Given the description of an element on the screen output the (x, y) to click on. 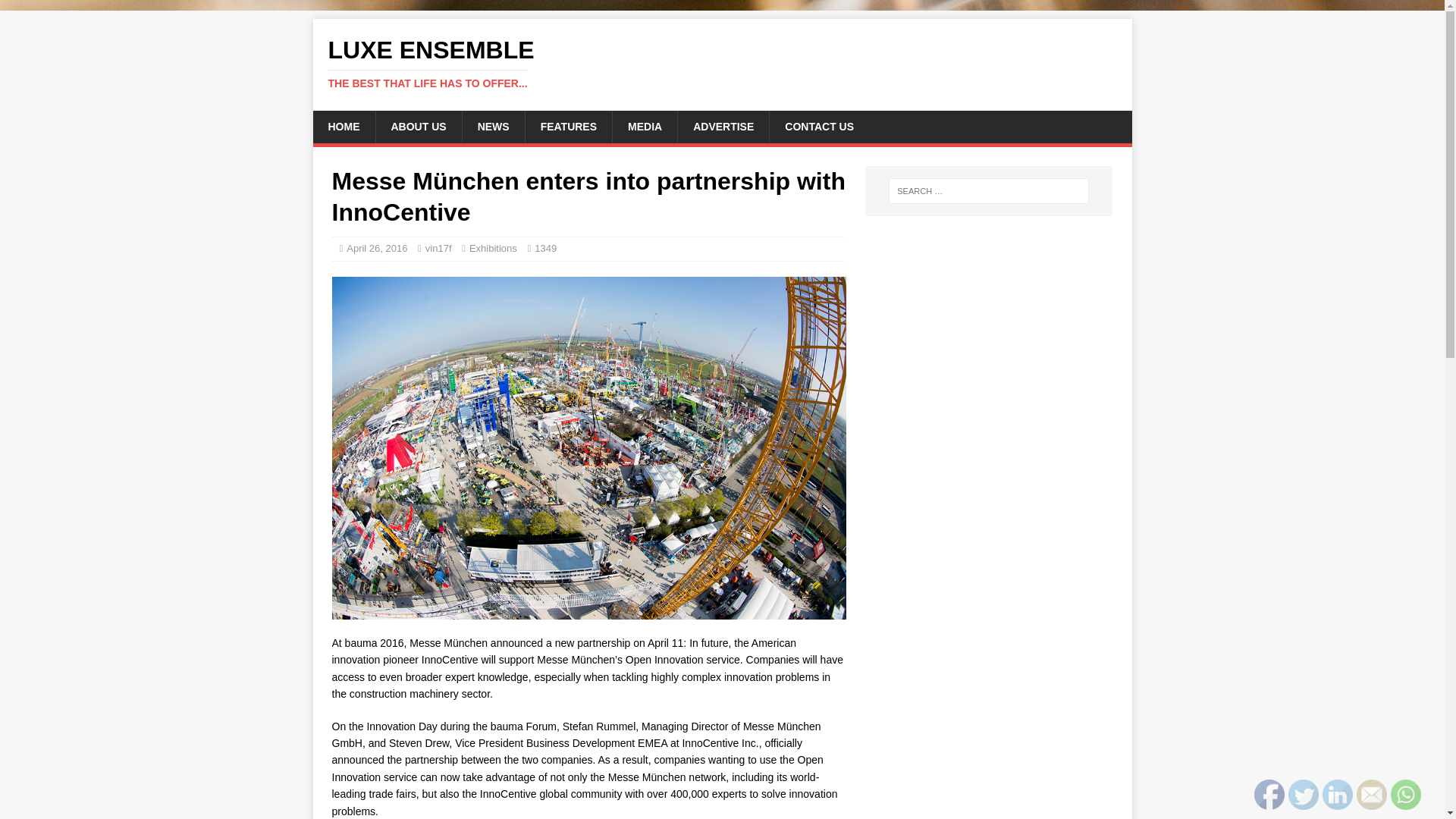
vin17f (438, 247)
Exhibitions (492, 247)
Facebook (1268, 794)
Luxe Ensemble (721, 63)
Follow by Email (1371, 794)
Messe Munchen (721, 63)
1349 (644, 126)
FEATURES (545, 247)
